Given the description of an element on the screen output the (x, y) to click on. 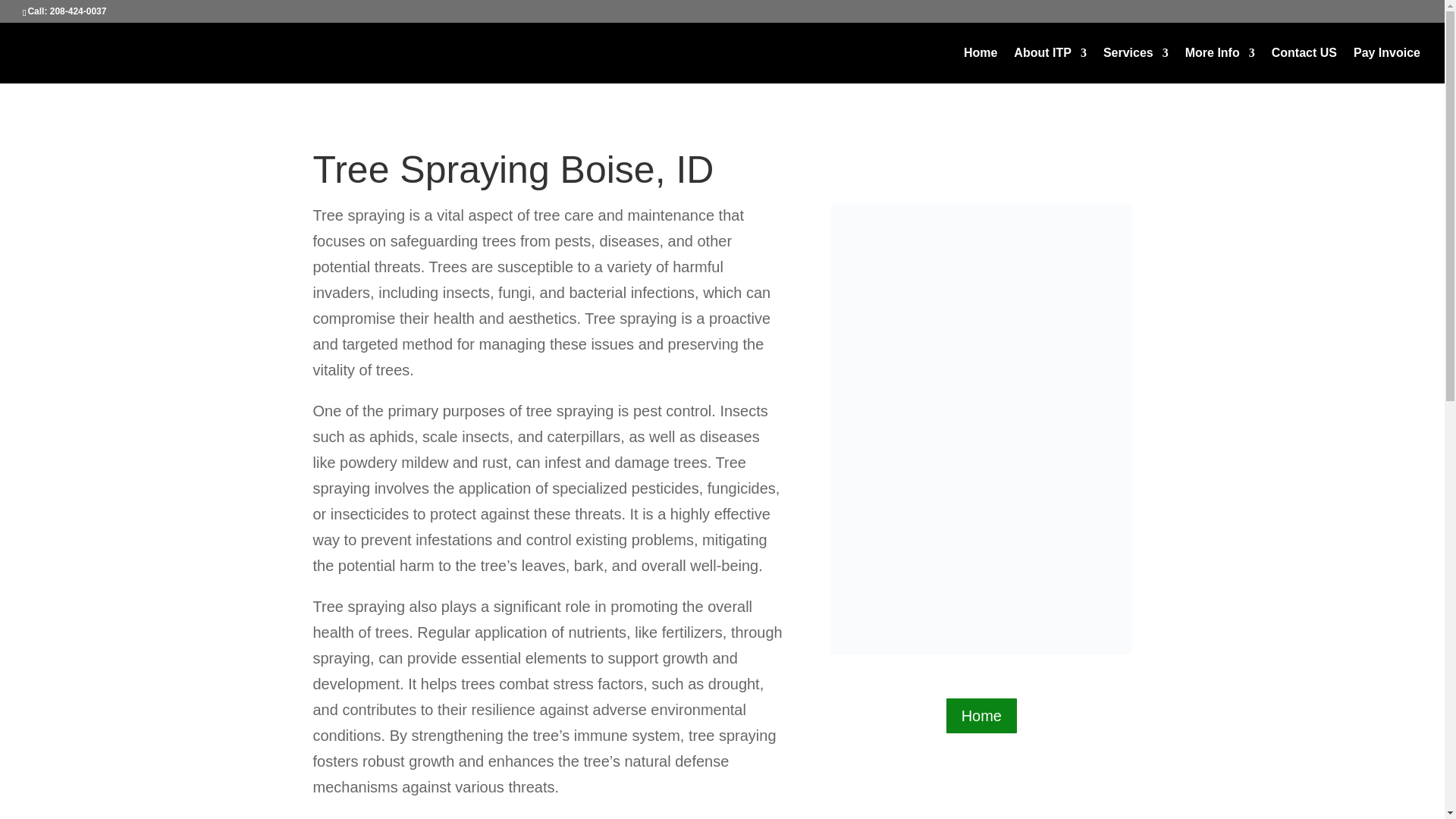
Contact US (1303, 65)
Services (1136, 65)
Home (980, 715)
More Info (1220, 65)
About ITP (1049, 65)
Pay Invoice (1387, 65)
Home (980, 65)
